Given the description of an element on the screen output the (x, y) to click on. 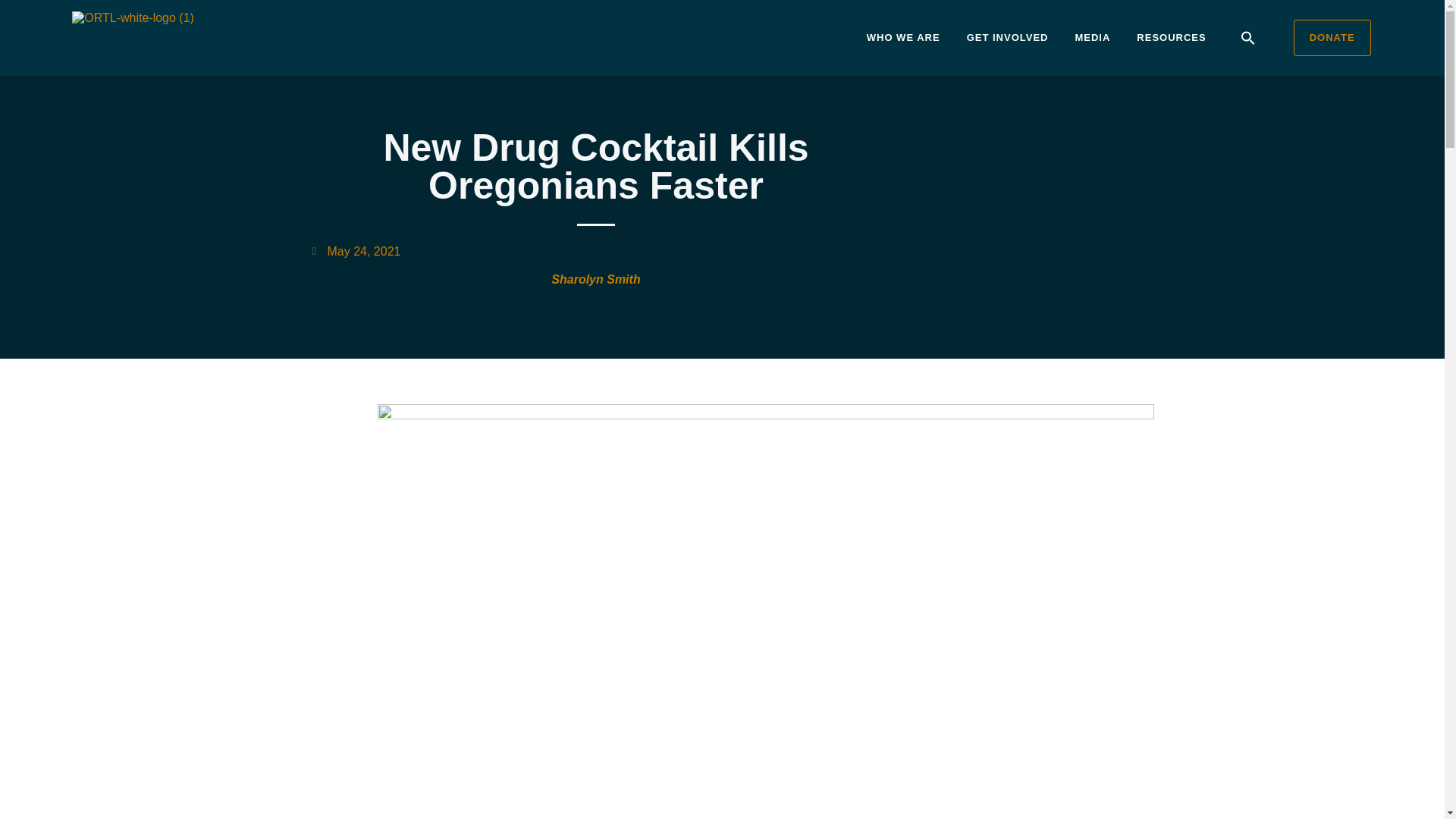
RESOURCES (1170, 37)
MEDIA (1092, 37)
GET INVOLVED (1008, 37)
WHO WE ARE (903, 37)
